Given the description of an element on the screen output the (x, y) to click on. 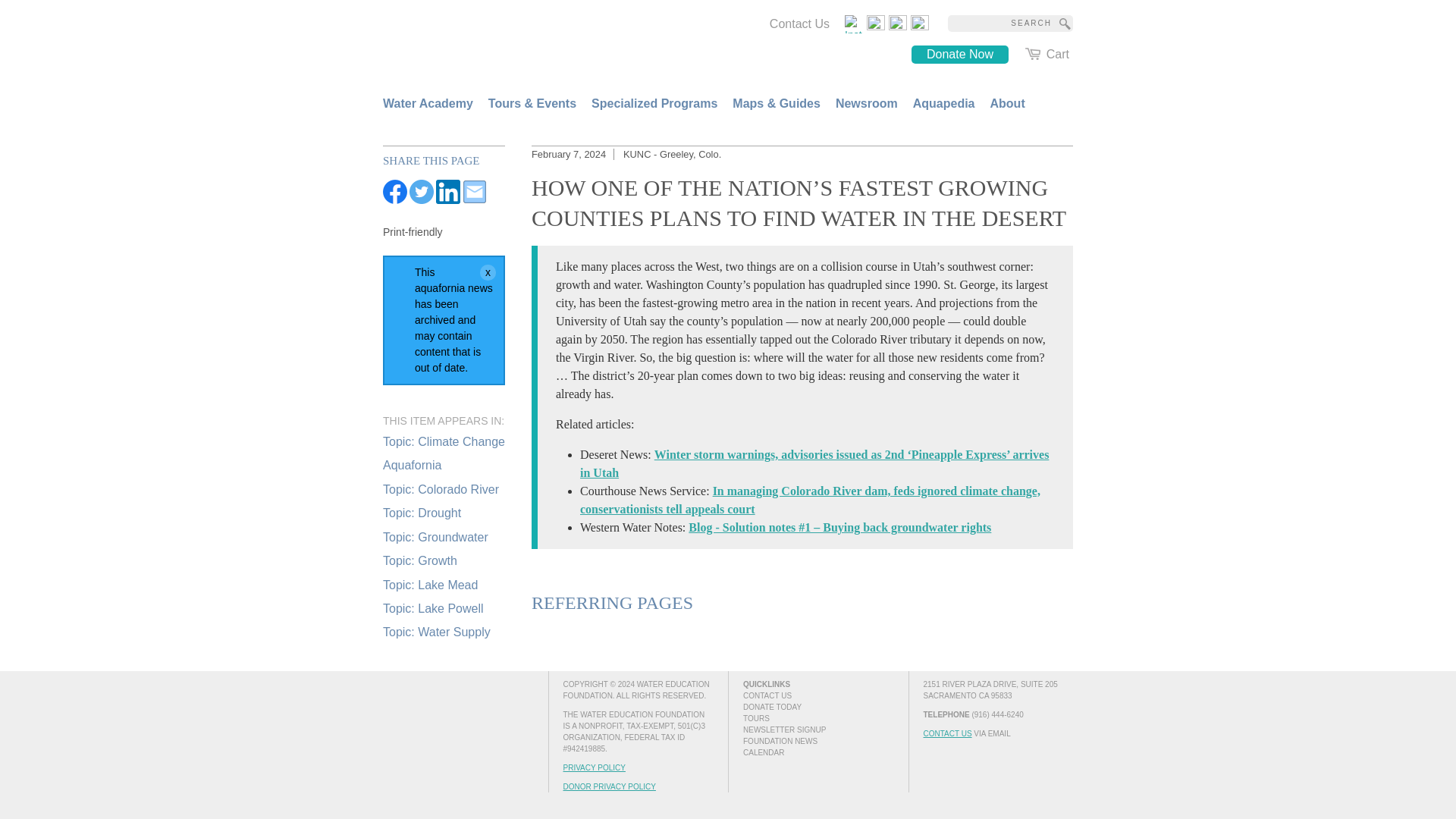
Water Academy (427, 103)
Search keywords (999, 23)
Water Education Foundation home page (504, 44)
Water Academy (427, 103)
Donate Now (960, 54)
Donate Now (960, 54)
Contact Us (799, 24)
Contact Us (799, 24)
Cart (1046, 54)
Cart (1046, 54)
